Given the description of an element on the screen output the (x, y) to click on. 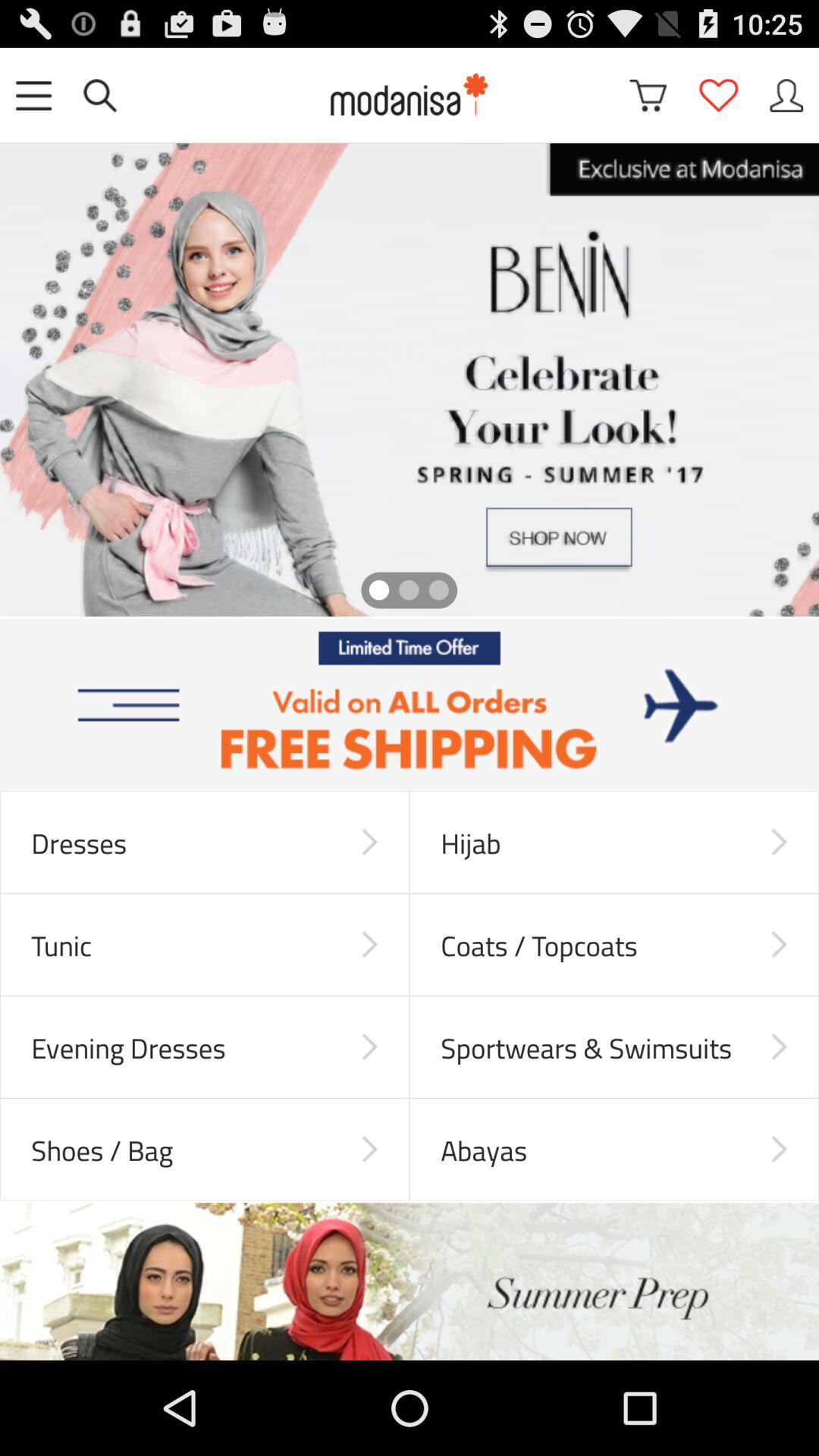
go to offer (409, 704)
